Given the description of an element on the screen output the (x, y) to click on. 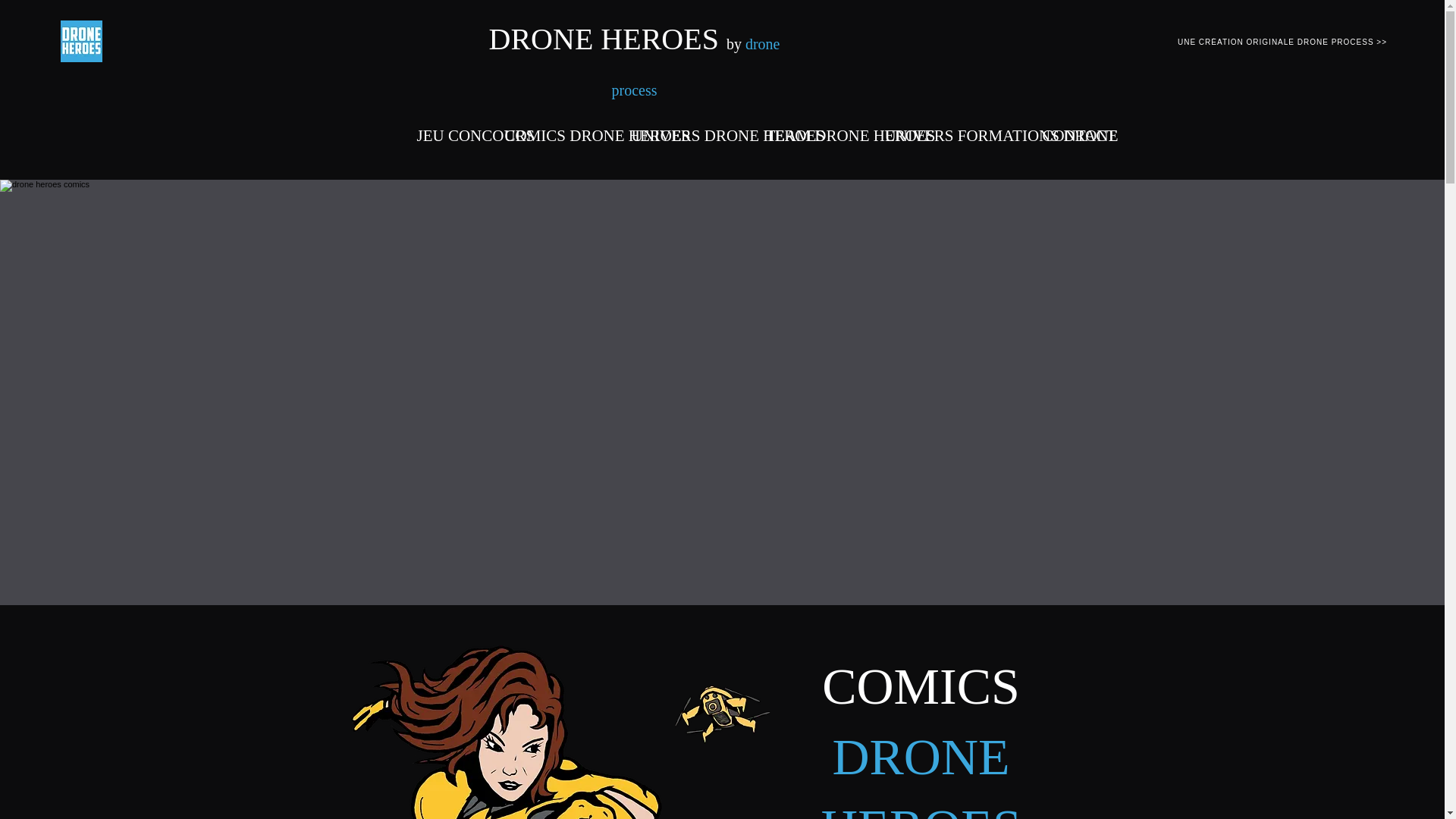
UNIVERS FORMATIONS DRONE (954, 133)
TEAM DRONE HEROES (817, 133)
DRONE DE FACE VERS LE HAUT.webp (722, 720)
COMICS DRONE HEROES (560, 133)
CONTACT (1062, 133)
JEU CONCOURS (453, 133)
Drone heroes ludy woman comics (505, 732)
DRONE HEROES by drone process (634, 62)
UNIVERS DRONE HEROES (690, 133)
